Given the description of an element on the screen output the (x, y) to click on. 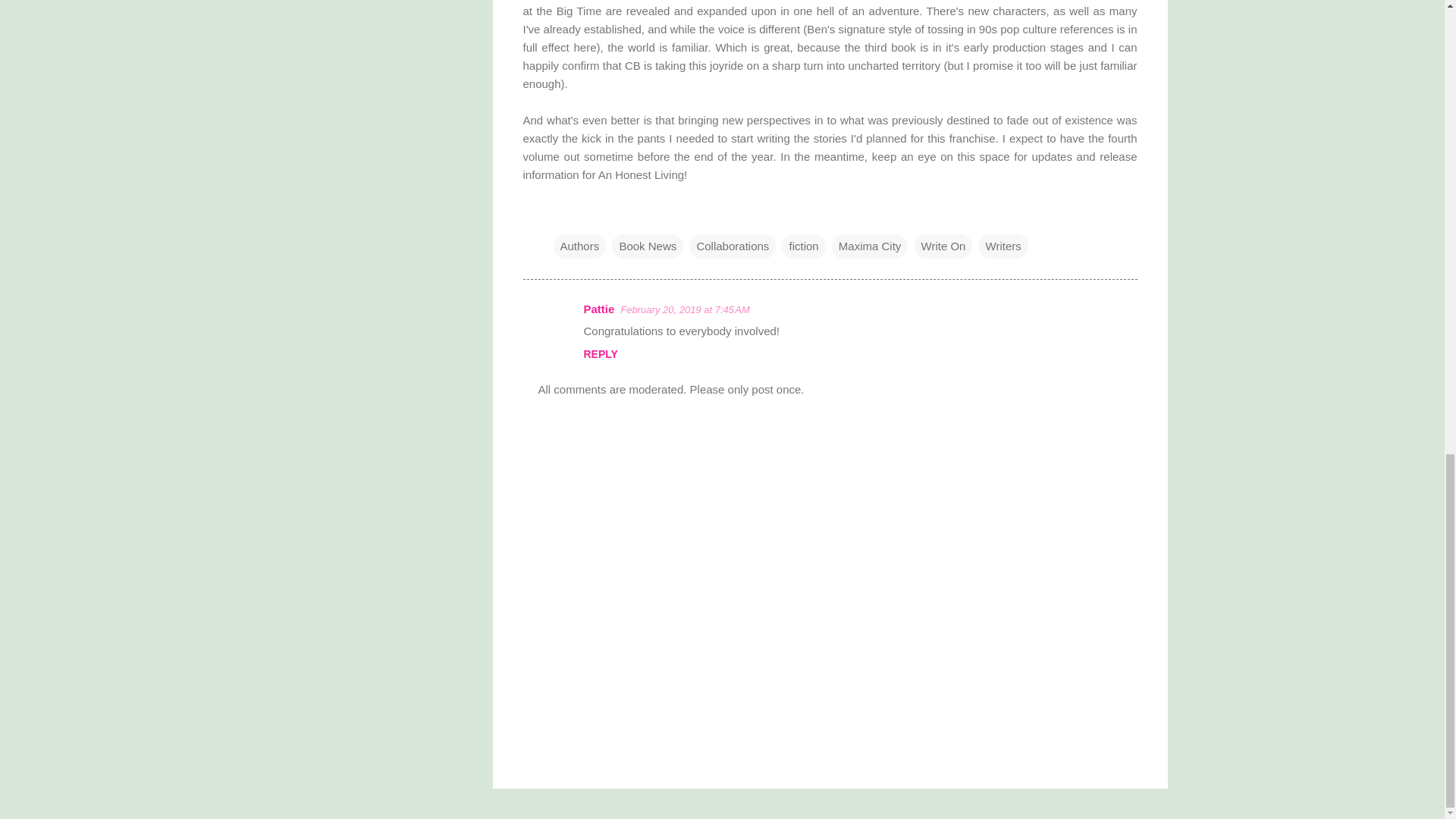
Write On (943, 245)
fiction (803, 245)
Pattie (598, 308)
Authors (580, 245)
Writers (1002, 245)
REPLY (600, 354)
Maxima City (869, 245)
Collaborations (732, 245)
Book News (646, 245)
